Given the description of an element on the screen output the (x, y) to click on. 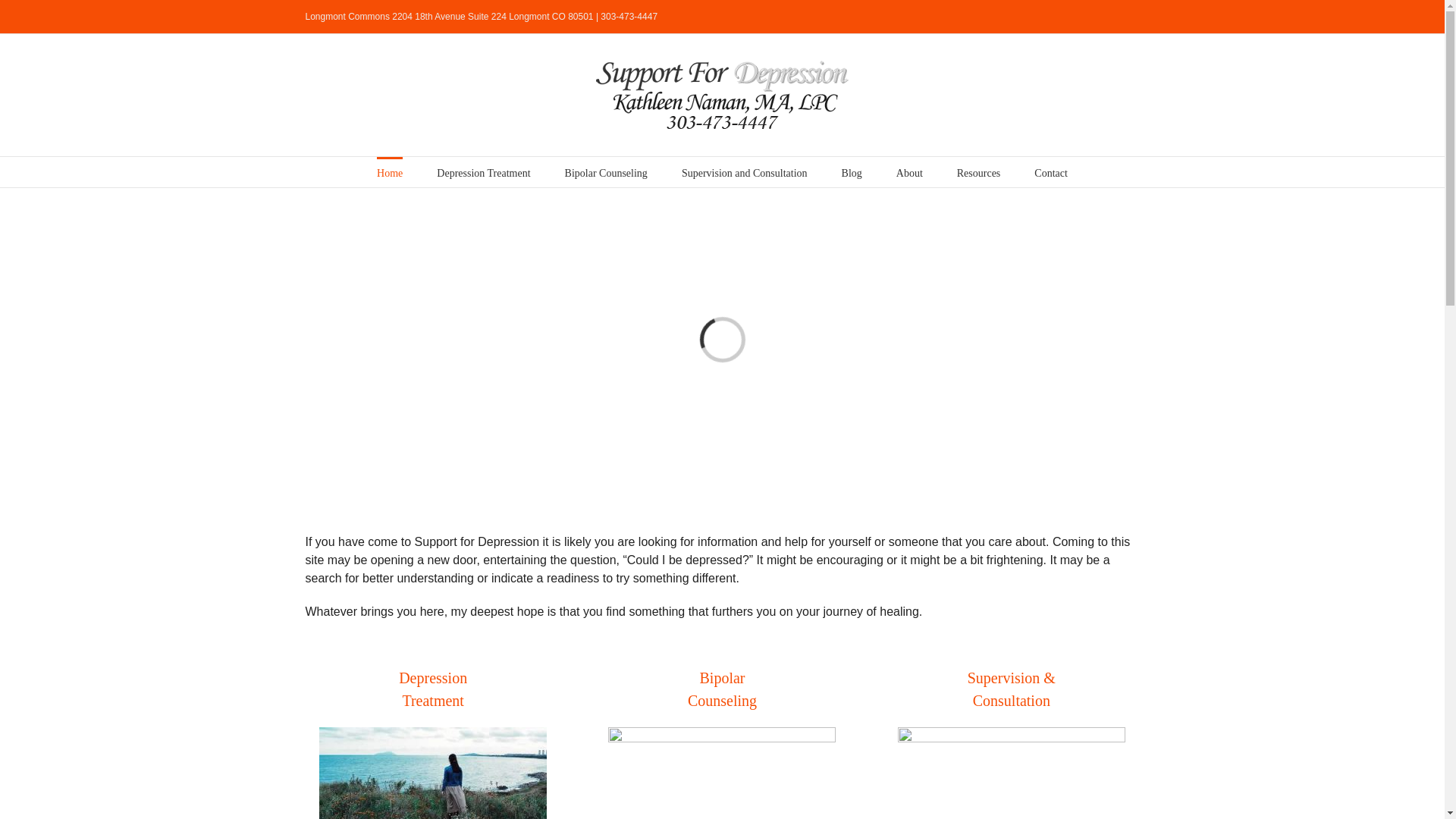
Depression Treatment (482, 172)
Bipolar Counseling (605, 172)
Contact (1050, 172)
Resources (978, 172)
Supervision and Consultation (744, 172)
